Given the description of an element on the screen output the (x, y) to click on. 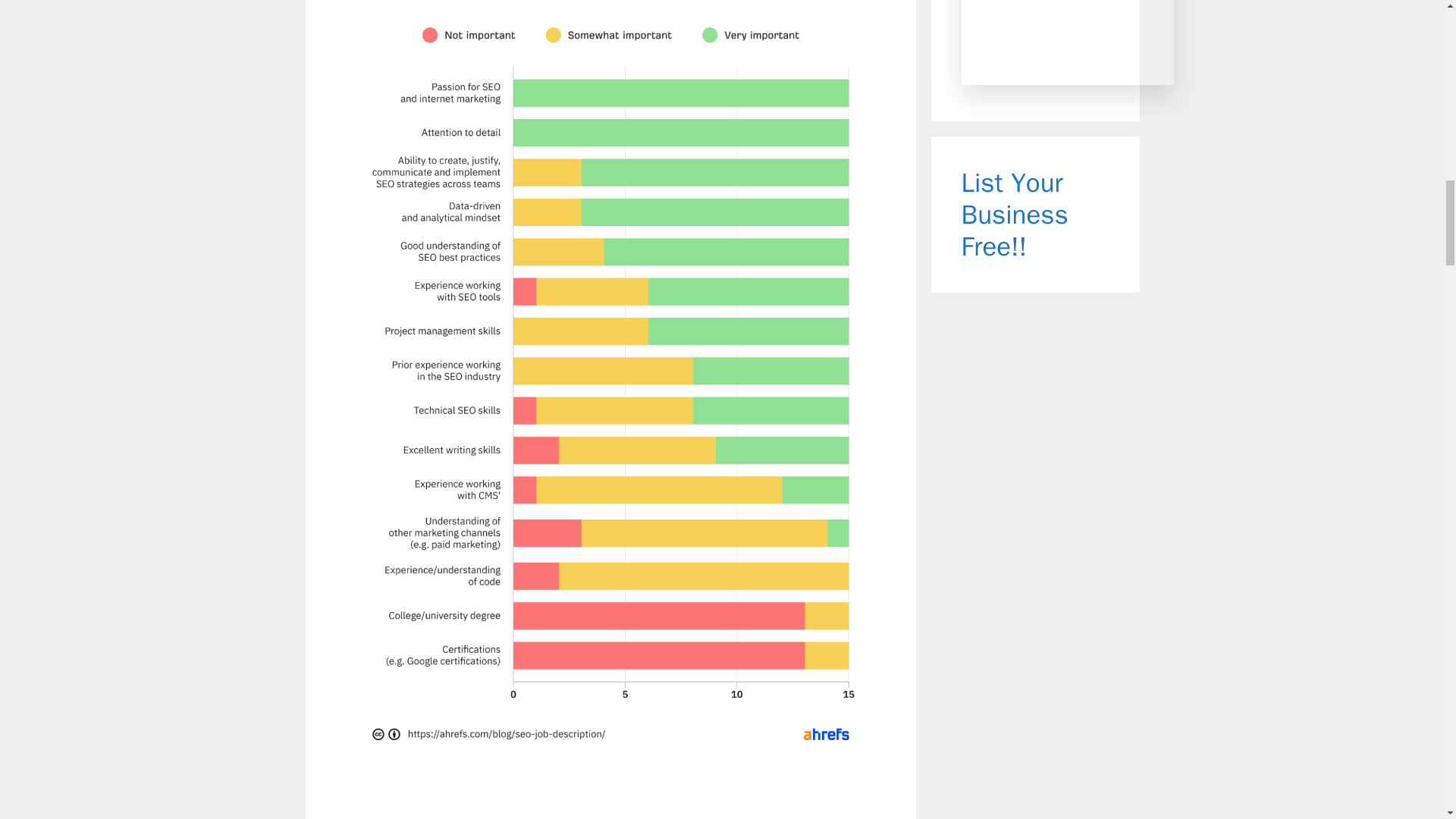
List Your Business Free!! (1014, 213)
